Given the description of an element on the screen output the (x, y) to click on. 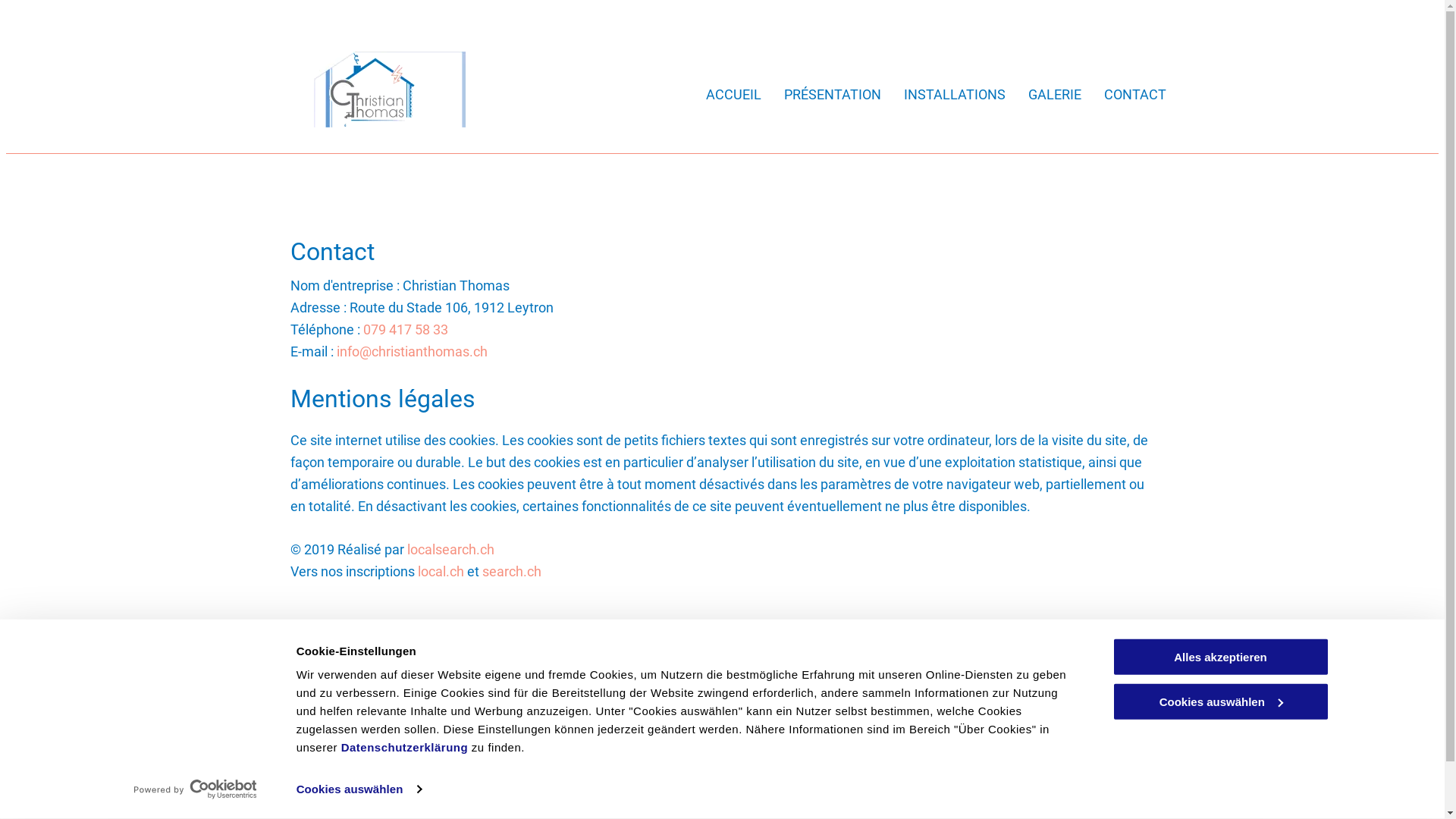
info@christianthomas.ch Element type: text (411, 351)
Alles akzeptieren Element type: text (1219, 656)
CONTACT Element type: text (1135, 94)
INSTALLATIONS Element type: text (954, 94)
027 306 21 33 Element type: text (618, 747)
079 417 58 33 Element type: text (618, 730)
local.ch Element type: text (440, 571)
GALERIE Element type: text (1054, 94)
ACCUEIL Element type: text (732, 94)
info@christianthomas.ch Element type: text (645, 789)
localsearch.ch Element type: text (449, 549)
079 417 58 33 Element type: text (404, 329)
search.ch Element type: text (511, 571)
